Given the description of an element on the screen output the (x, y) to click on. 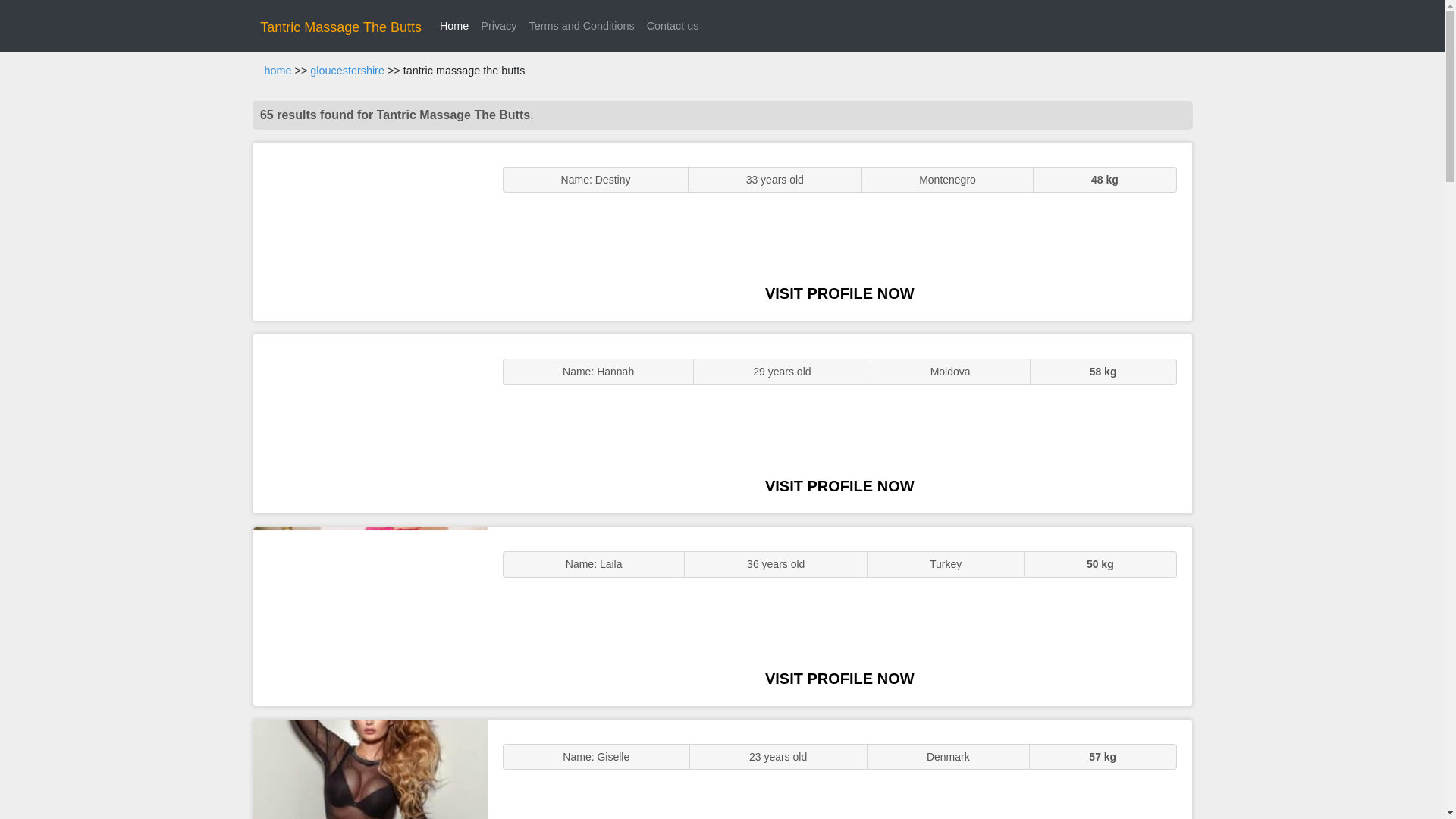
 ENGLISH STUNNER (370, 231)
gloucestershire (347, 70)
Sexy (370, 616)
Sluts (370, 769)
Privacy (498, 25)
GFE (370, 423)
Tantric Massage The Butts (341, 27)
Terms and Conditions (581, 25)
home (277, 70)
VISIT PROFILE NOW (839, 485)
Contact us (672, 25)
VISIT PROFILE NOW (839, 293)
VISIT PROFILE NOW (839, 678)
